Given the description of an element on the screen output the (x, y) to click on. 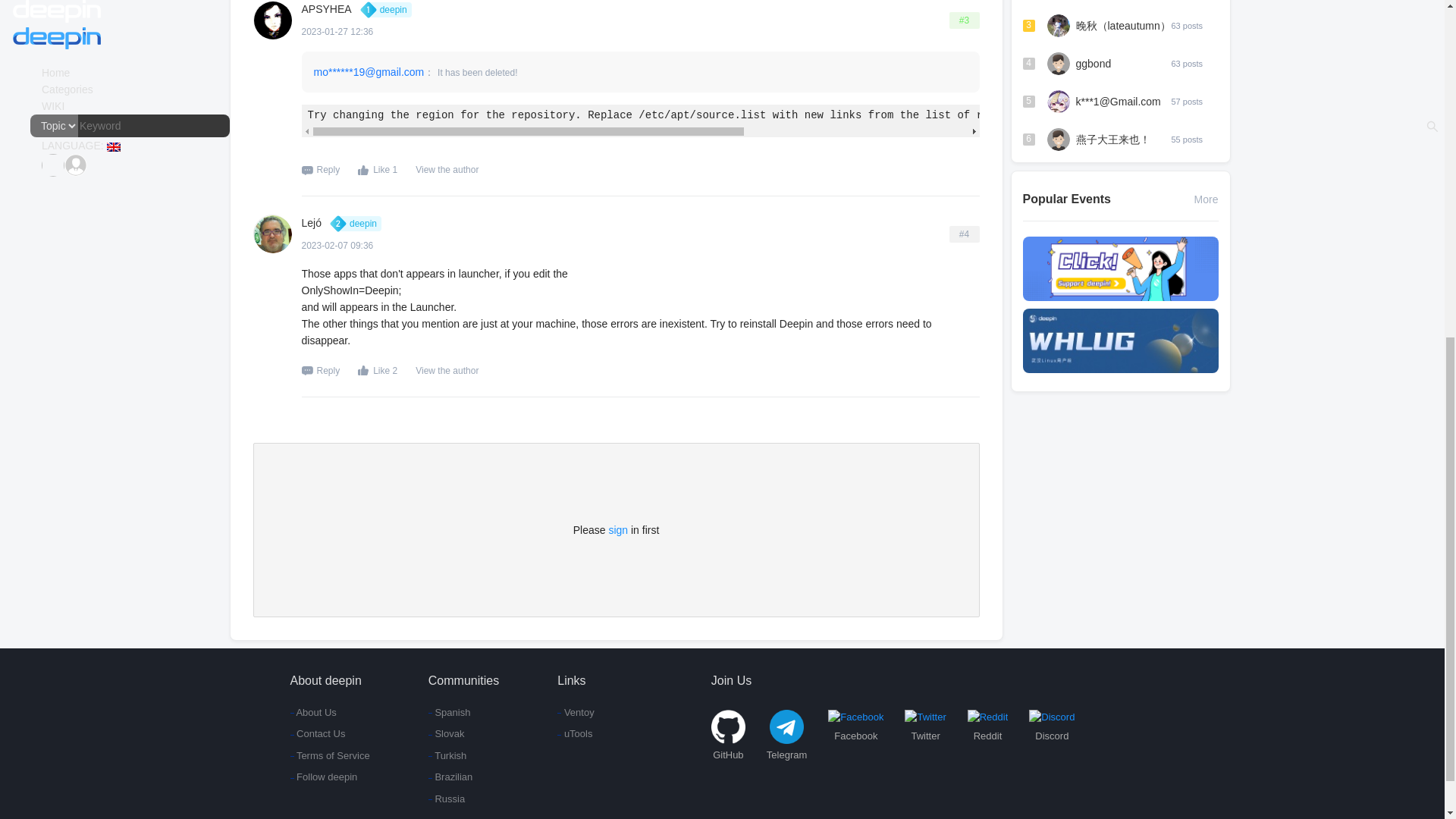
Slovak (463, 734)
Russia (463, 798)
Terms of Service (329, 755)
2023-01-27T04:36:07.764Z (356, 32)
About Us (329, 712)
Copy Link (964, 234)
Brazilian (463, 776)
Turkish (463, 755)
Contact Us (329, 734)
Follow deepin (329, 776)
Copy Link (964, 20)
uTools (575, 734)
sign (617, 530)
User Level (359, 223)
Spanish (463, 712)
